Given the description of an element on the screen output the (x, y) to click on. 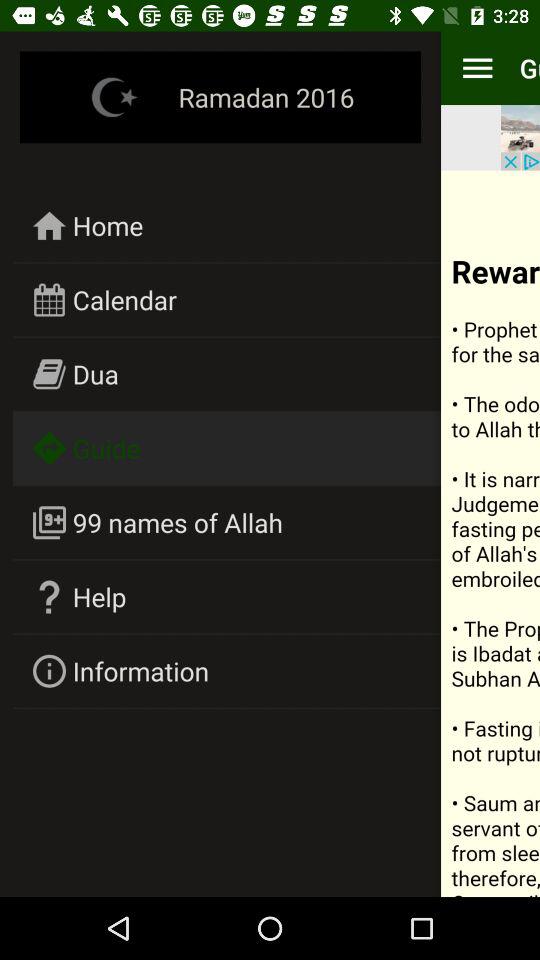
close menu (490, 533)
